Given the description of an element on the screen output the (x, y) to click on. 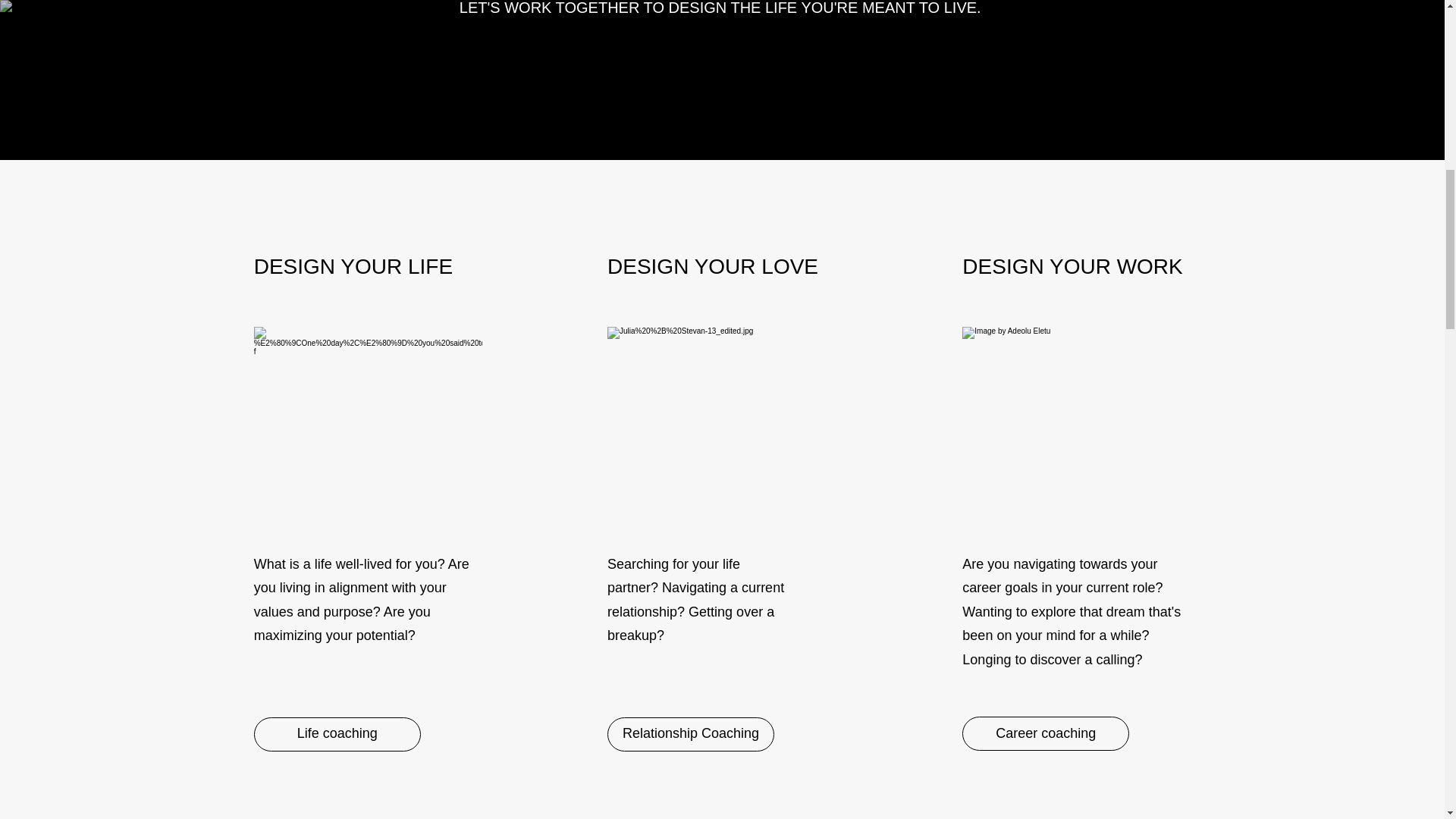
Life coaching (336, 734)
Career coaching (1045, 733)
Relationship Coaching (690, 734)
